Given the description of an element on the screen output the (x, y) to click on. 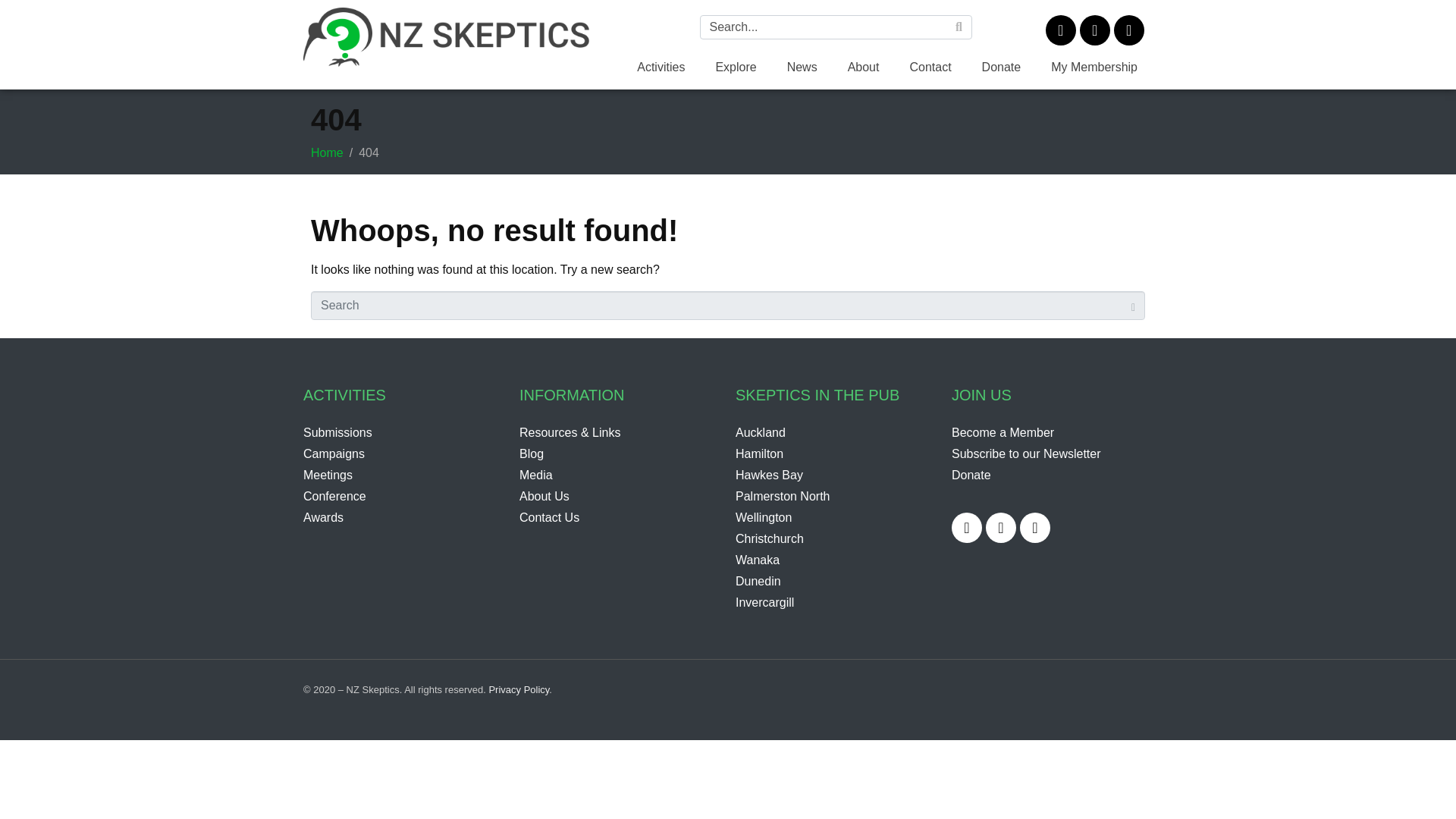
News (801, 67)
Donate (1001, 67)
Explore (735, 67)
About (863, 67)
Activities (660, 67)
Contact (929, 67)
My Membership (1094, 67)
